Given the description of an element on the screen output the (x, y) to click on. 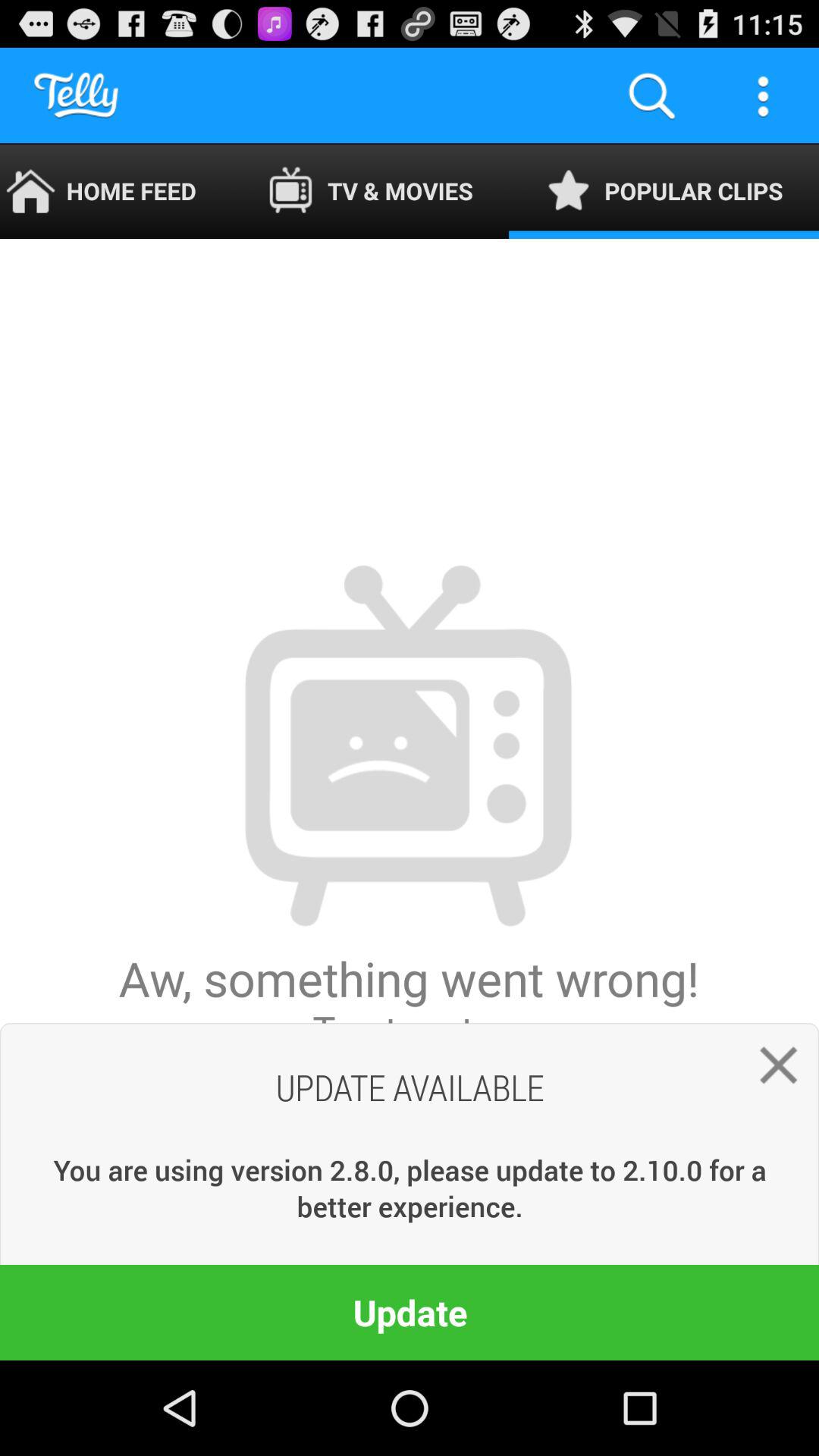
turn off the item to the right of the home feed (370, 190)
